Given the description of an element on the screen output the (x, y) to click on. 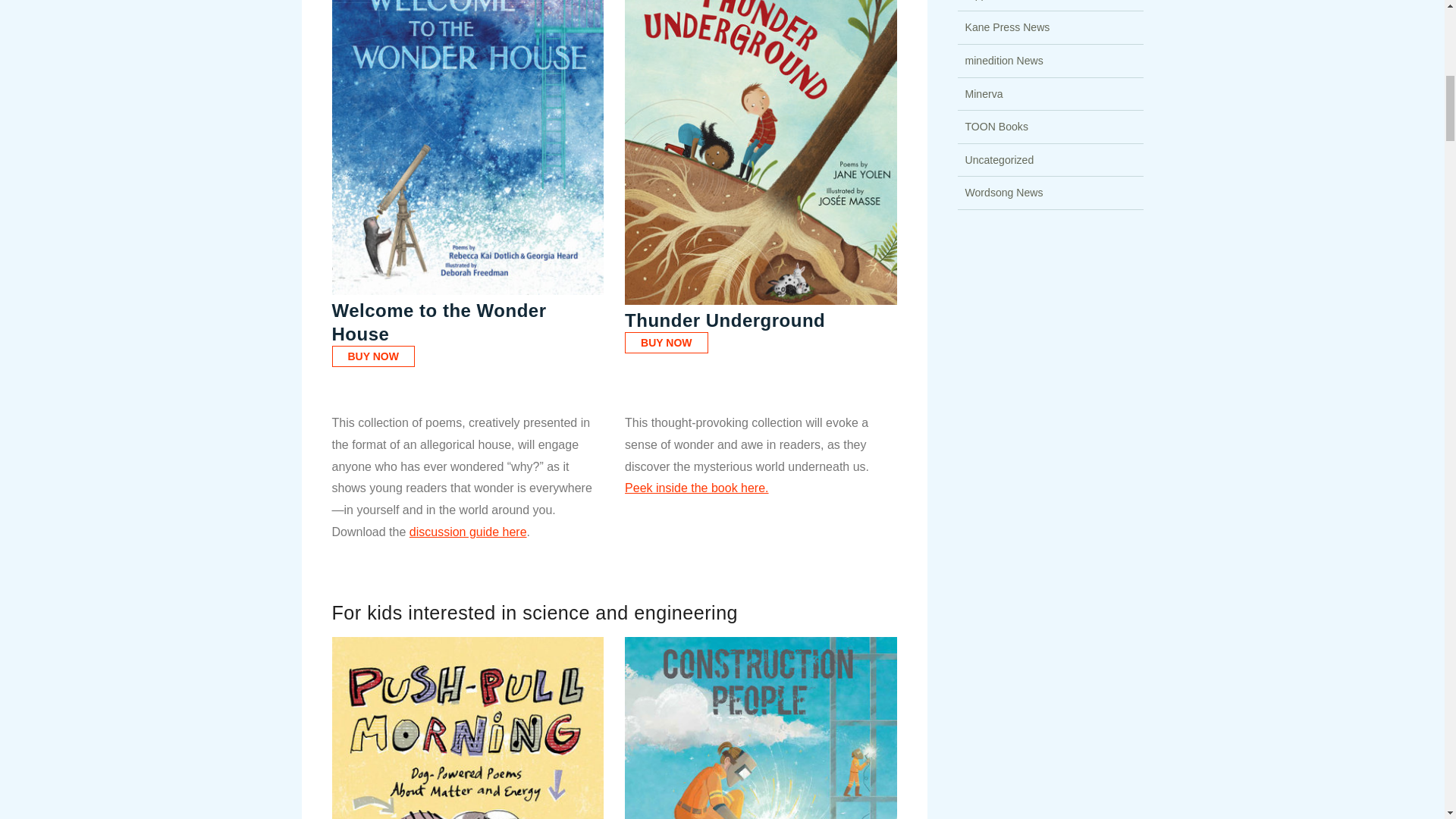
Welcome to the Wonder House (467, 147)
Thunder Underground (760, 151)
Push-Pull Morning (467, 728)
BUY NOW (665, 342)
Construction People (760, 728)
Thunder Underground (724, 320)
Welcome to the Wonder House (439, 321)
BUY NOW (372, 355)
